Given the description of an element on the screen output the (x, y) to click on. 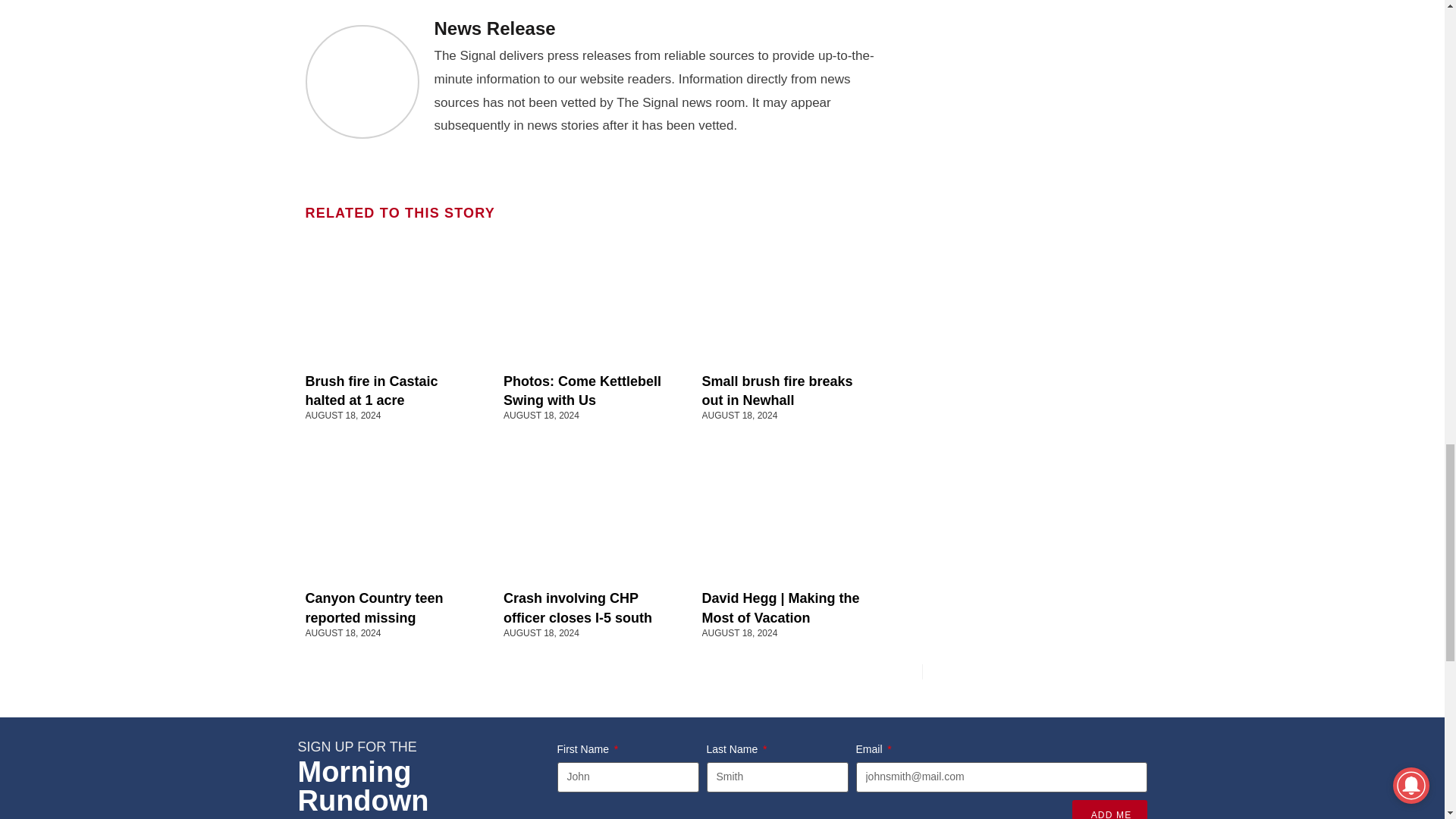
3rd party ad content (1031, 24)
3rd party ad content (1031, 158)
3rd party ad content (1031, 567)
3rd party ad content (1031, 362)
